Given the description of an element on the screen output the (x, y) to click on. 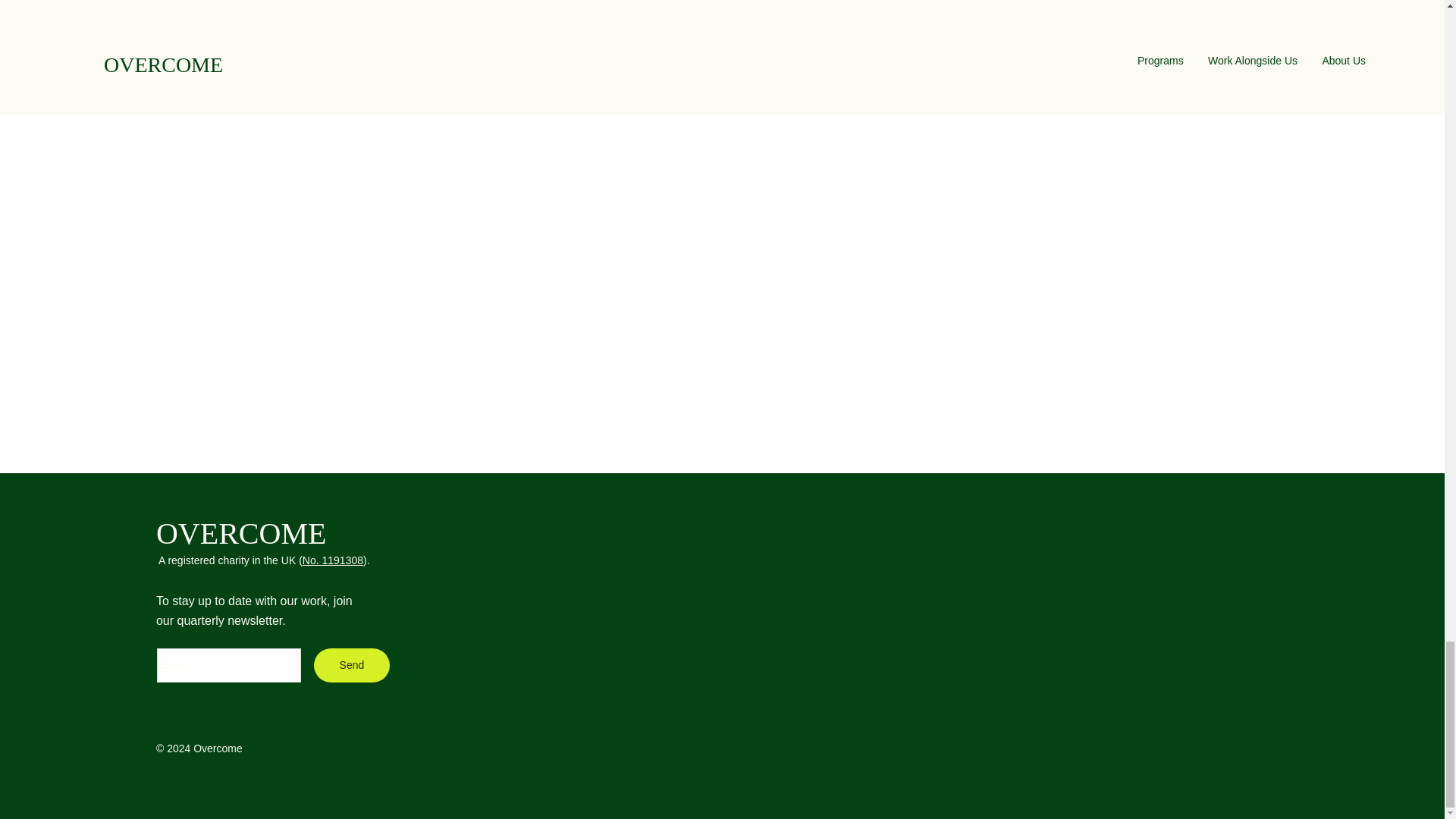
No. 1191308 (332, 560)
Send (352, 665)
Sign up now! (721, 13)
